Given the description of an element on the screen output the (x, y) to click on. 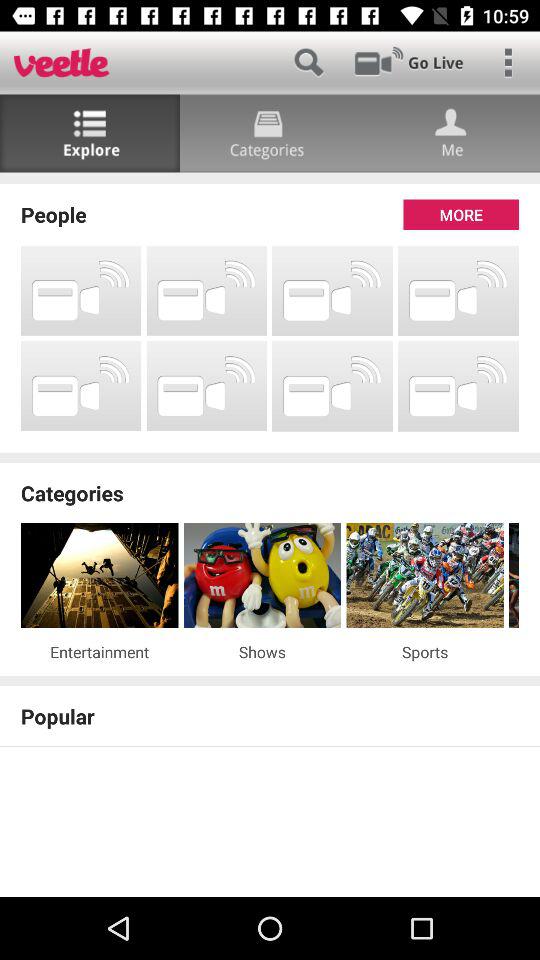
jump until the popular icon (270, 715)
